Given the description of an element on the screen output the (x, y) to click on. 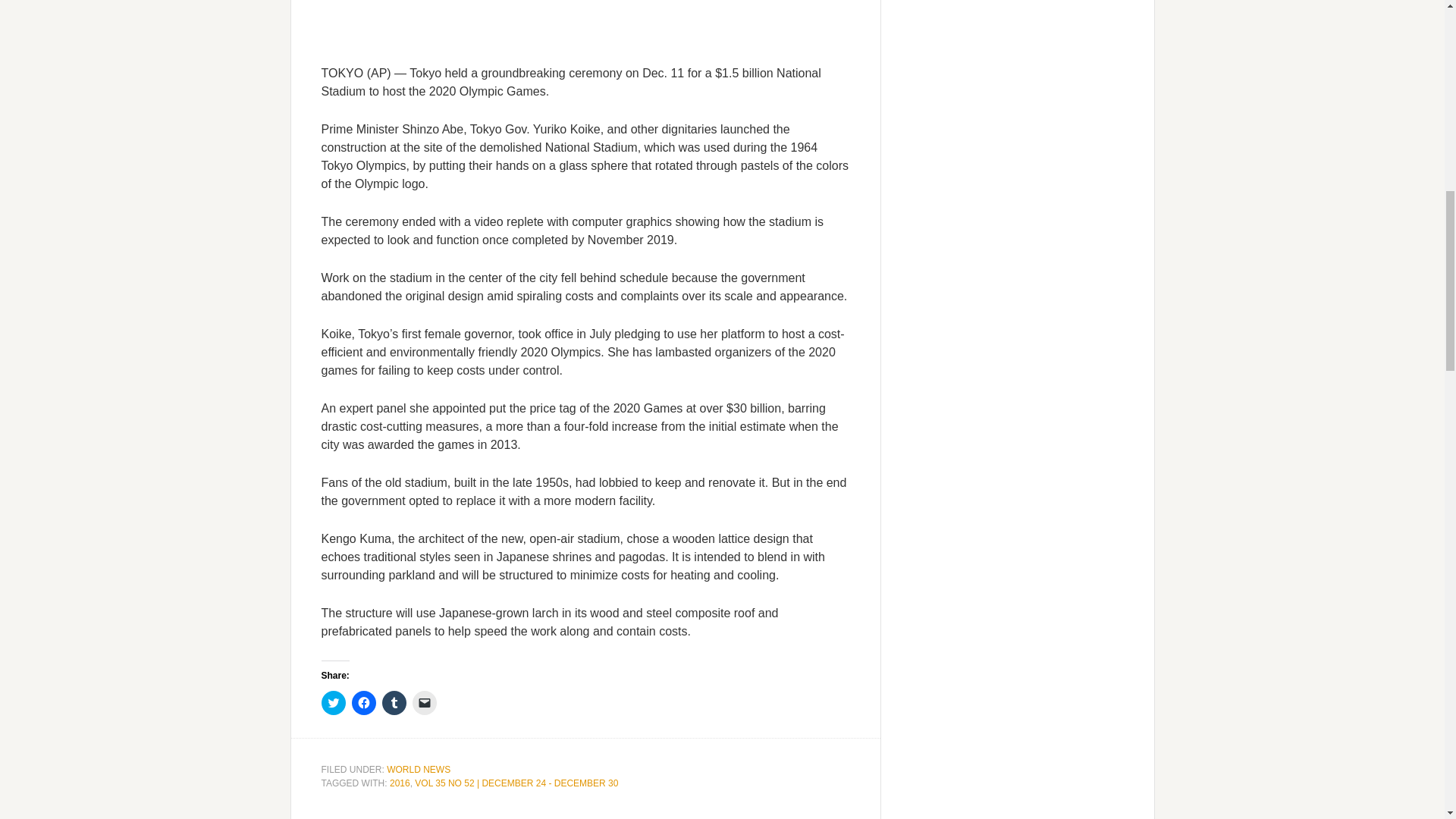
Click to share on Tumblr (393, 702)
Click to share on Facebook (363, 702)
Click to email a link to a friend (424, 702)
Click to share on Twitter (333, 702)
